Given the description of an element on the screen output the (x, y) to click on. 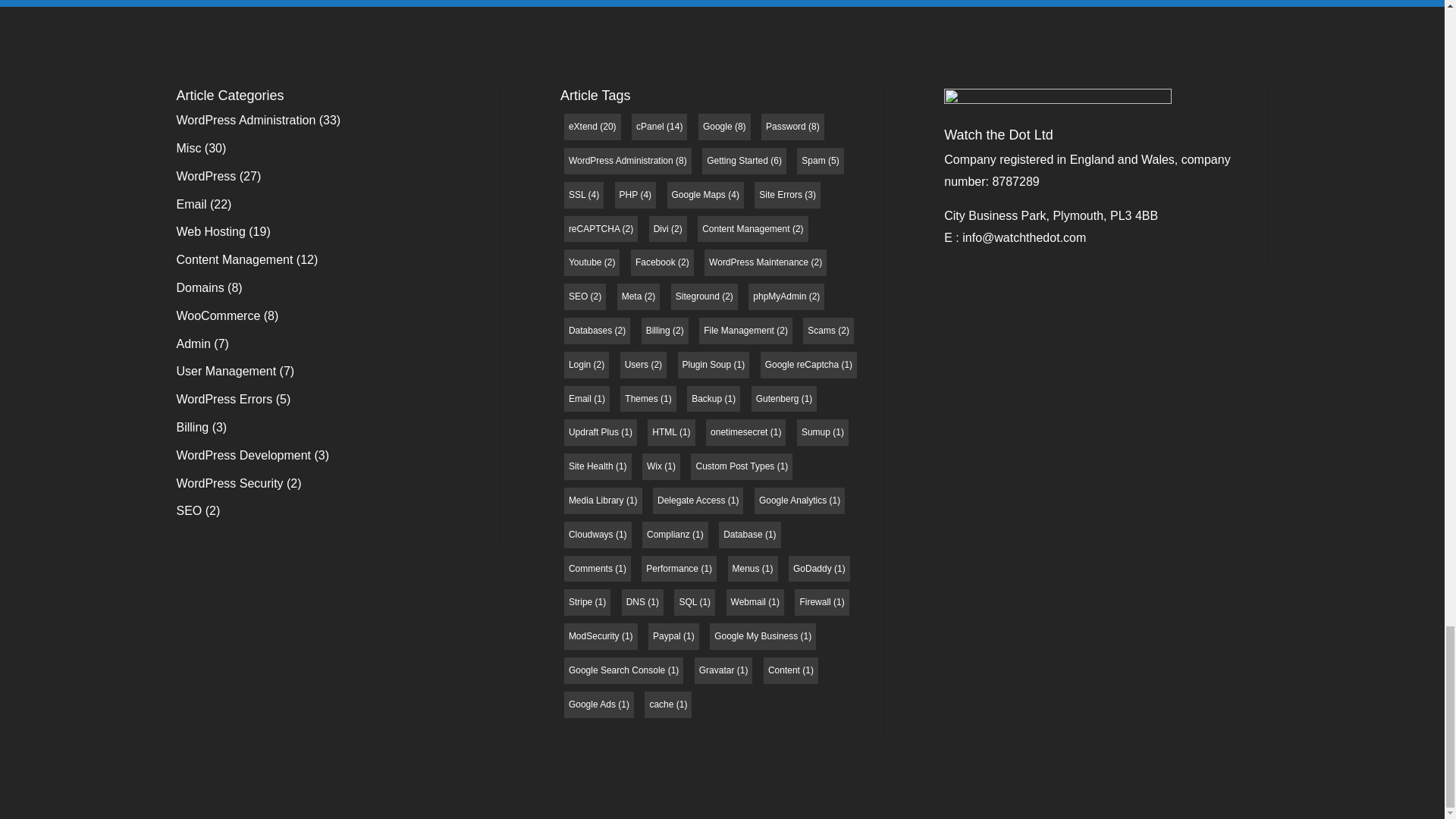
User Management (226, 370)
WordPress (205, 175)
WordPress Errors (224, 399)
Domains (200, 287)
Web Hosting (210, 231)
WordPress Administration (245, 119)
Email (191, 204)
WooCommerce (218, 315)
Admin (192, 343)
Content Management (234, 259)
Misc (188, 147)
